Given the description of an element on the screen output the (x, y) to click on. 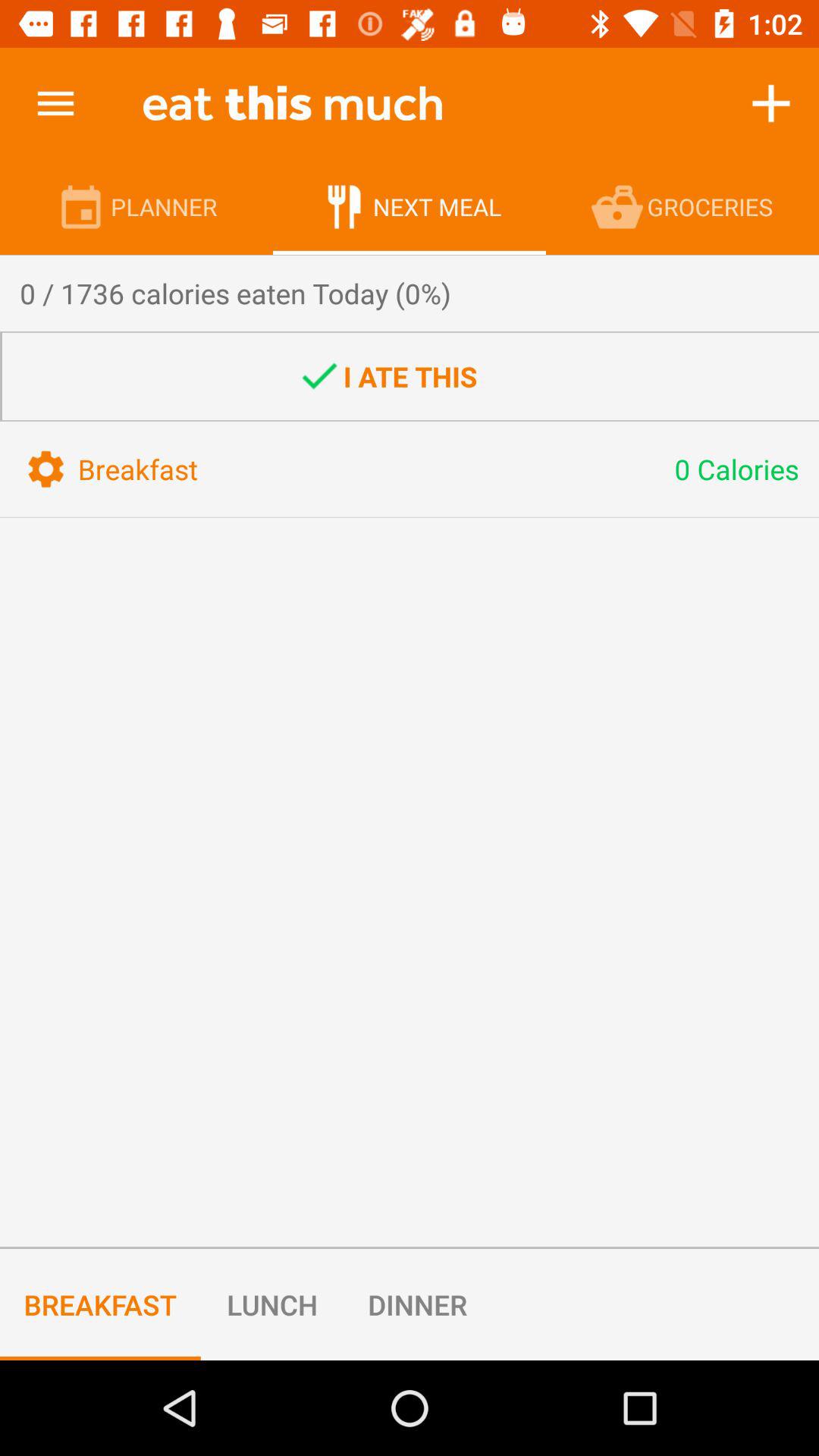
select the next meal tab icon on the web page (345, 206)
